Given the description of an element on the screen output the (x, y) to click on. 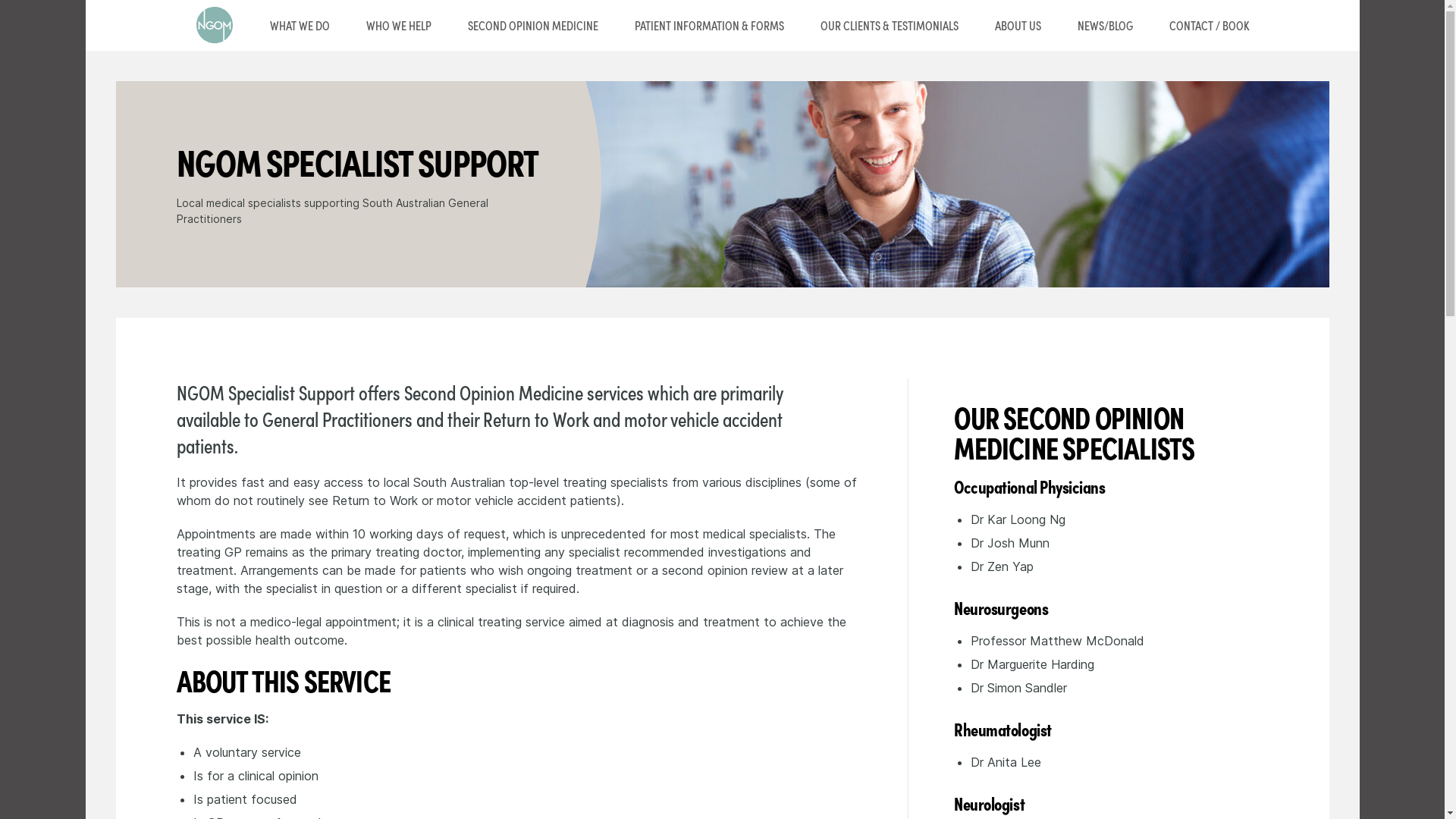
CONTACT / BOOK Element type: text (1209, 25)
NEWS/BLOG Element type: text (1104, 25)
PATIENT INFORMATION & FORMS Element type: text (708, 25)
ABOUT US Element type: text (1017, 25)
WHO WE HELP Element type: text (397, 25)
OUR CLIENTS & TESTIMONIALS Element type: text (889, 25)
SECOND OPINION MEDICINE Element type: text (531, 25)
WHAT WE DO Element type: text (299, 25)
